Given the description of an element on the screen output the (x, y) to click on. 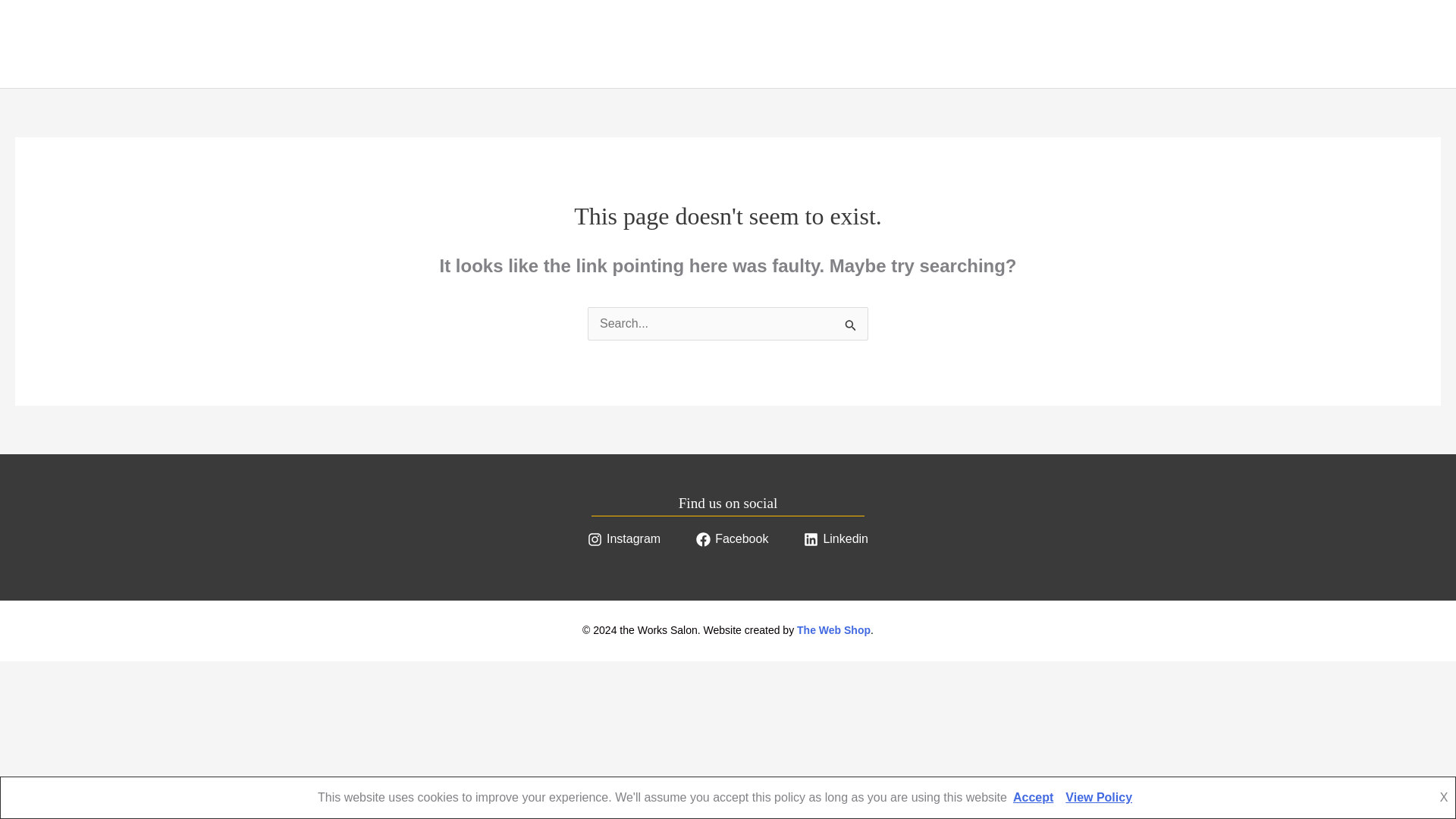
Website Design Ireland (833, 630)
Instagram (623, 538)
CONTACT (401, 43)
Search (850, 325)
The Web Shop (833, 630)
HAIR PRODUCTS (215, 43)
Search (850, 325)
GALLERY (318, 43)
Linkedin (835, 538)
Facebook (731, 538)
